Given the description of an element on the screen output the (x, y) to click on. 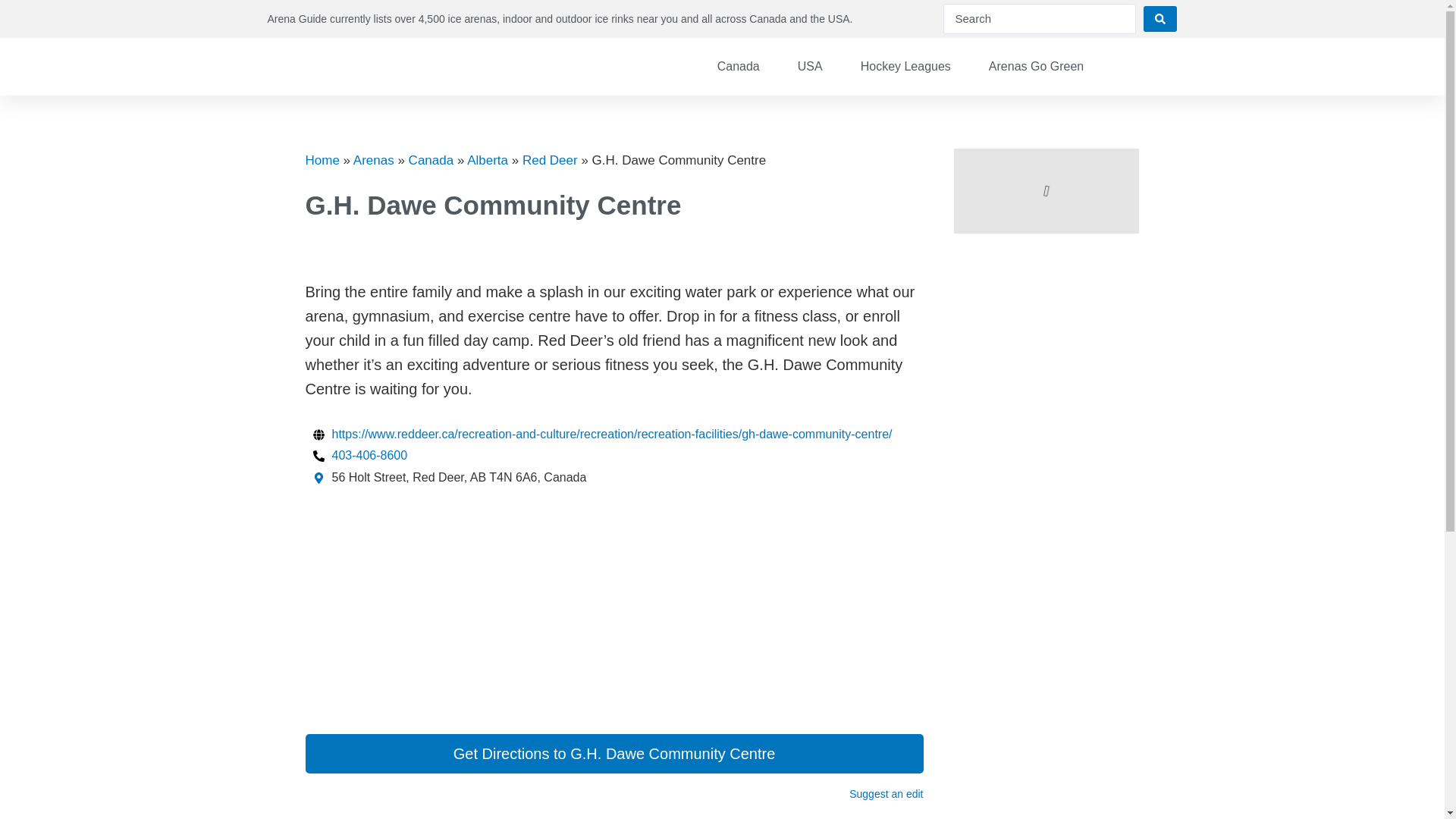
Alberta (487, 160)
Hockey Leagues (905, 65)
Home (321, 160)
Arenas Go Green (1035, 65)
Suggest an edit (885, 793)
403-406-8600 (360, 455)
Canada (431, 160)
Get Directions to G.H. Dawe Community Centre (613, 753)
Canada (738, 65)
Red Deer (550, 160)
Arenas (373, 160)
